Given the description of an element on the screen output the (x, y) to click on. 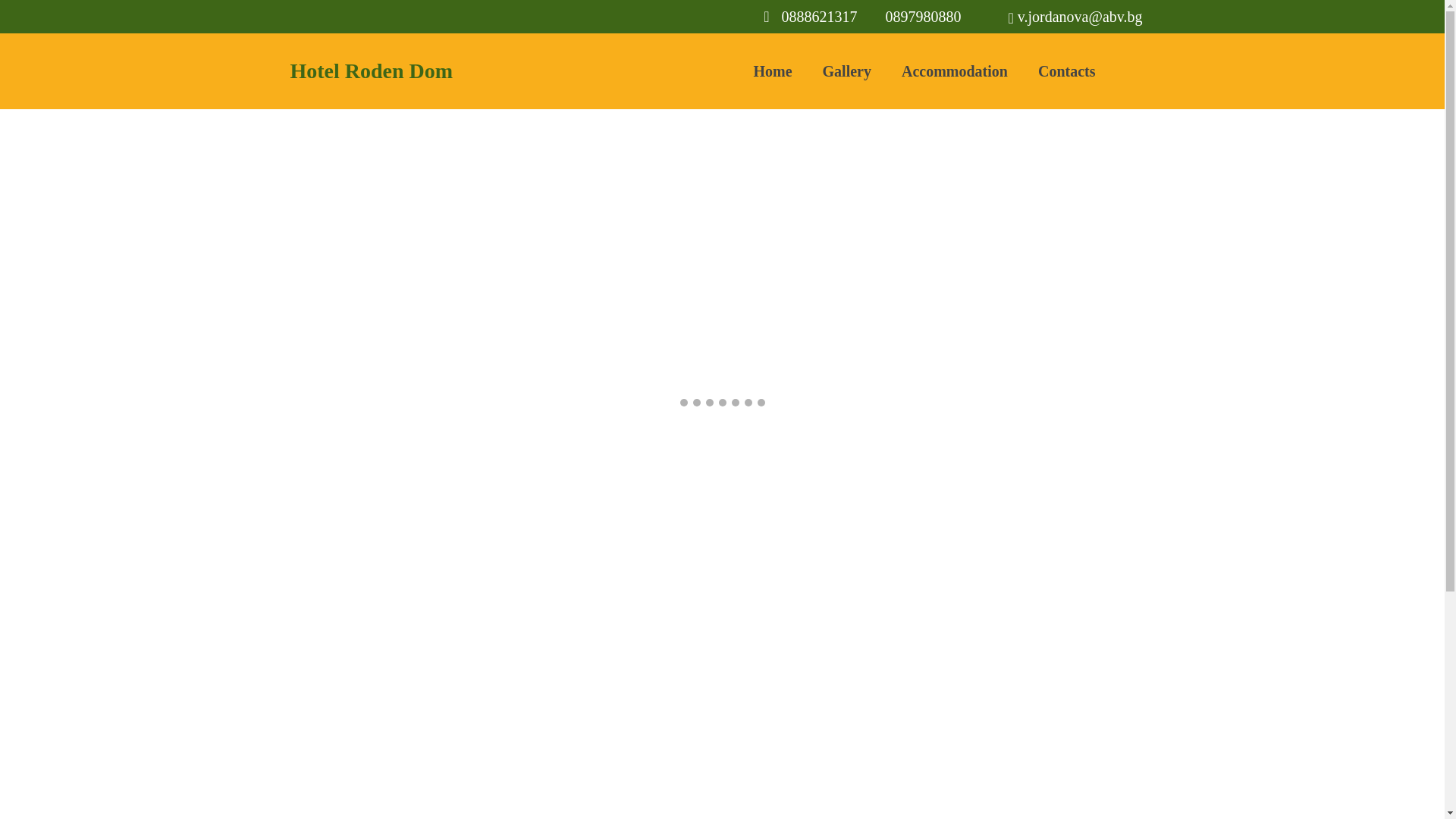
Hotel Roden Dom (425, 70)
0897980880 (922, 16)
Contacts (1066, 70)
Home (772, 70)
Accommodation (954, 70)
0888621317 (819, 16)
Hotel Roden Dom (425, 70)
Gallery (847, 70)
